Given the description of an element on the screen output the (x, y) to click on. 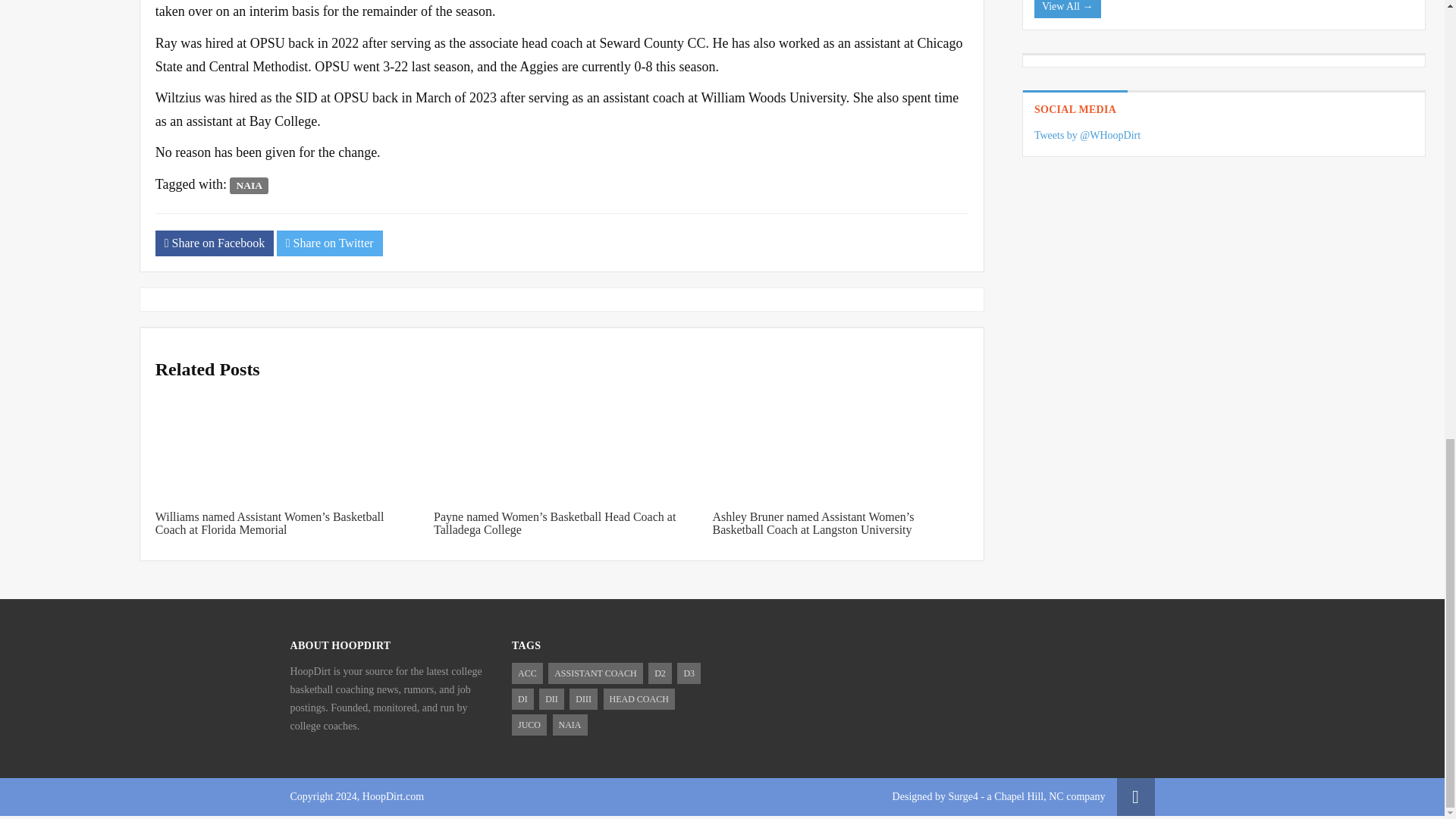
ACC (527, 672)
Share on Facebook (214, 243)
Share on Twitter (329, 243)
NAIA (249, 184)
